Given the description of an element on the screen output the (x, y) to click on. 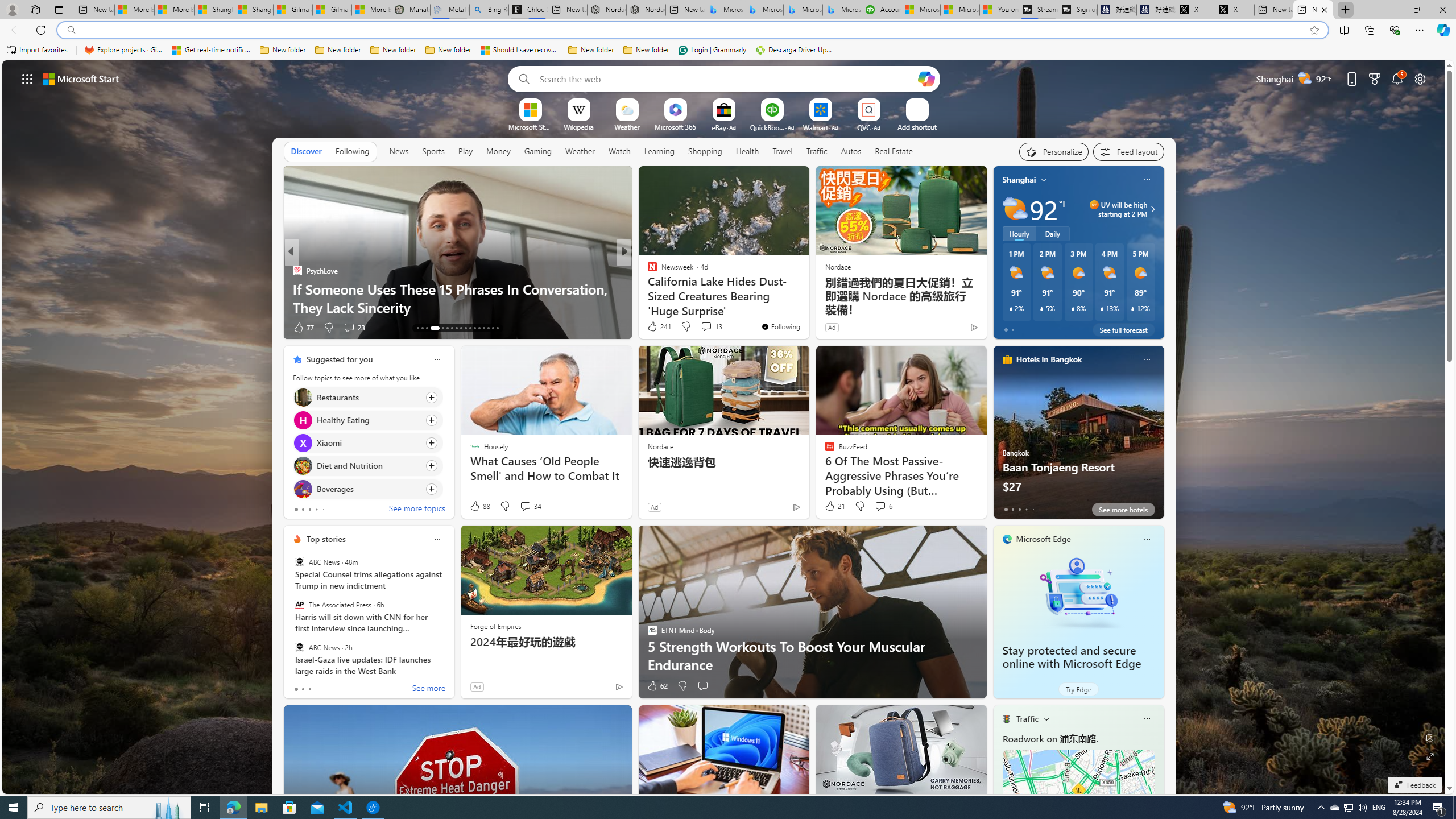
Shopping (705, 151)
Mythbusting 101: 18 Myths Dispelled by Scientific Evidence (457, 298)
View comments 34 Comment (525, 505)
Restaurants (302, 397)
Page settings (1420, 78)
